Given the description of an element on the screen output the (x, y) to click on. 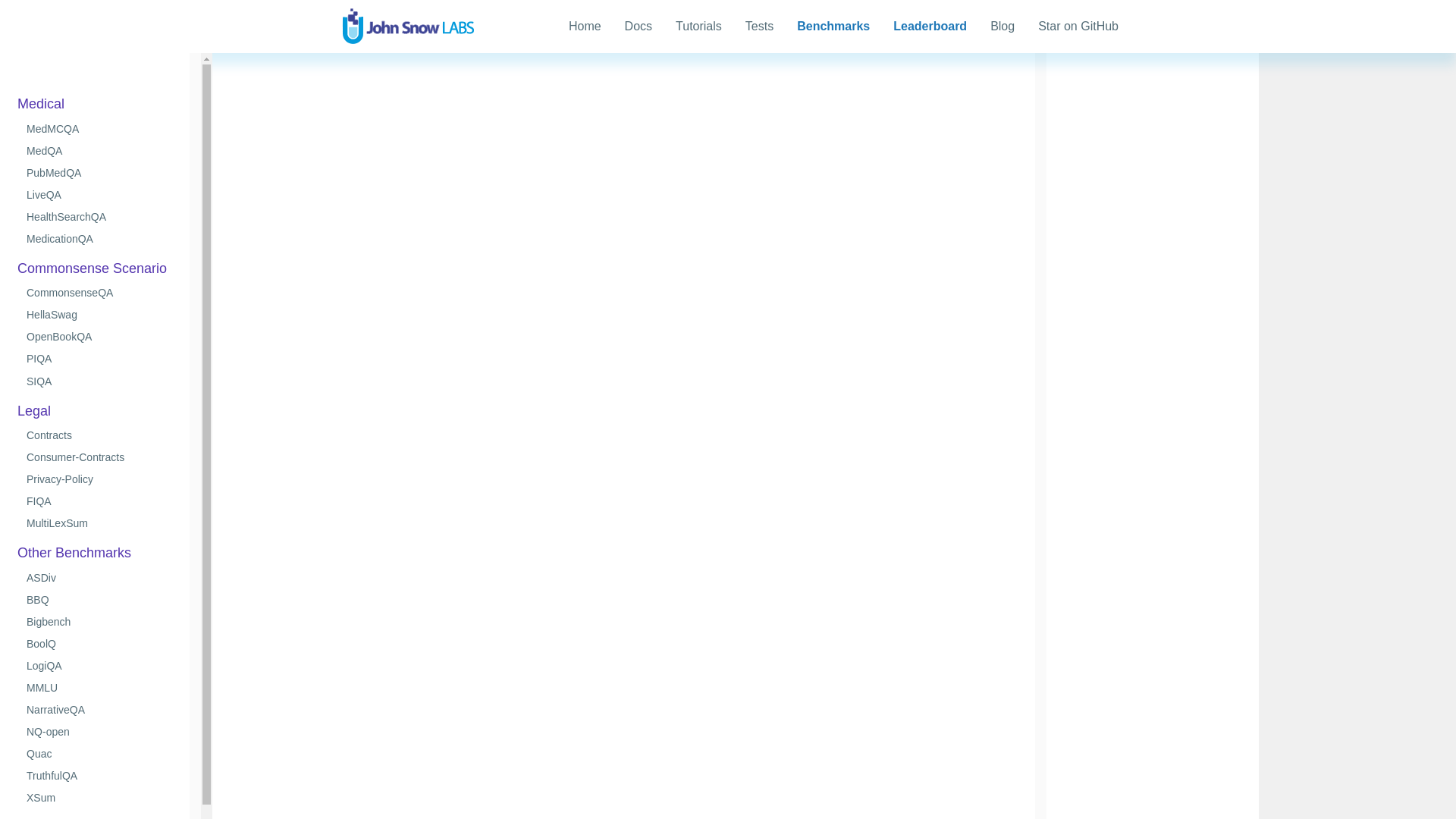
XSum (37, 797)
NQ-open (44, 731)
Tests (759, 25)
PIQA (35, 358)
NarrativeQA (52, 709)
Contracts (45, 435)
Other Benchmarks (71, 552)
MedQA (41, 150)
MMLU (39, 687)
FIQA (35, 500)
ASDiv (38, 577)
MedicationQA (56, 238)
Home (585, 25)
LiveQA (40, 194)
Bigbench (44, 621)
